Given the description of an element on the screen output the (x, y) to click on. 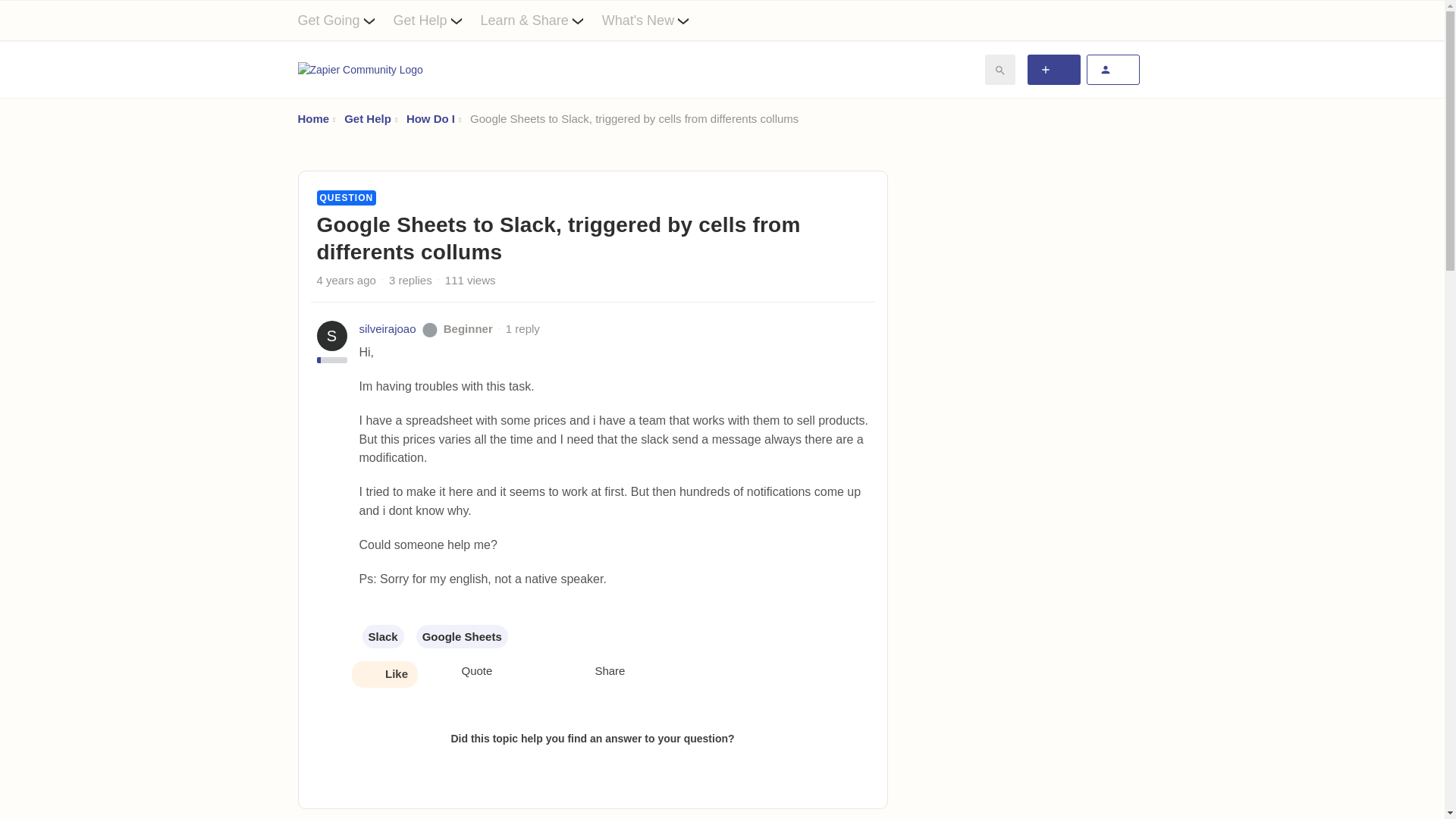
silveirajoao (387, 329)
Home (313, 118)
Get Going (345, 20)
Get Help (367, 118)
What's New (654, 20)
Get Help (436, 20)
